Given the description of an element on the screen output the (x, y) to click on. 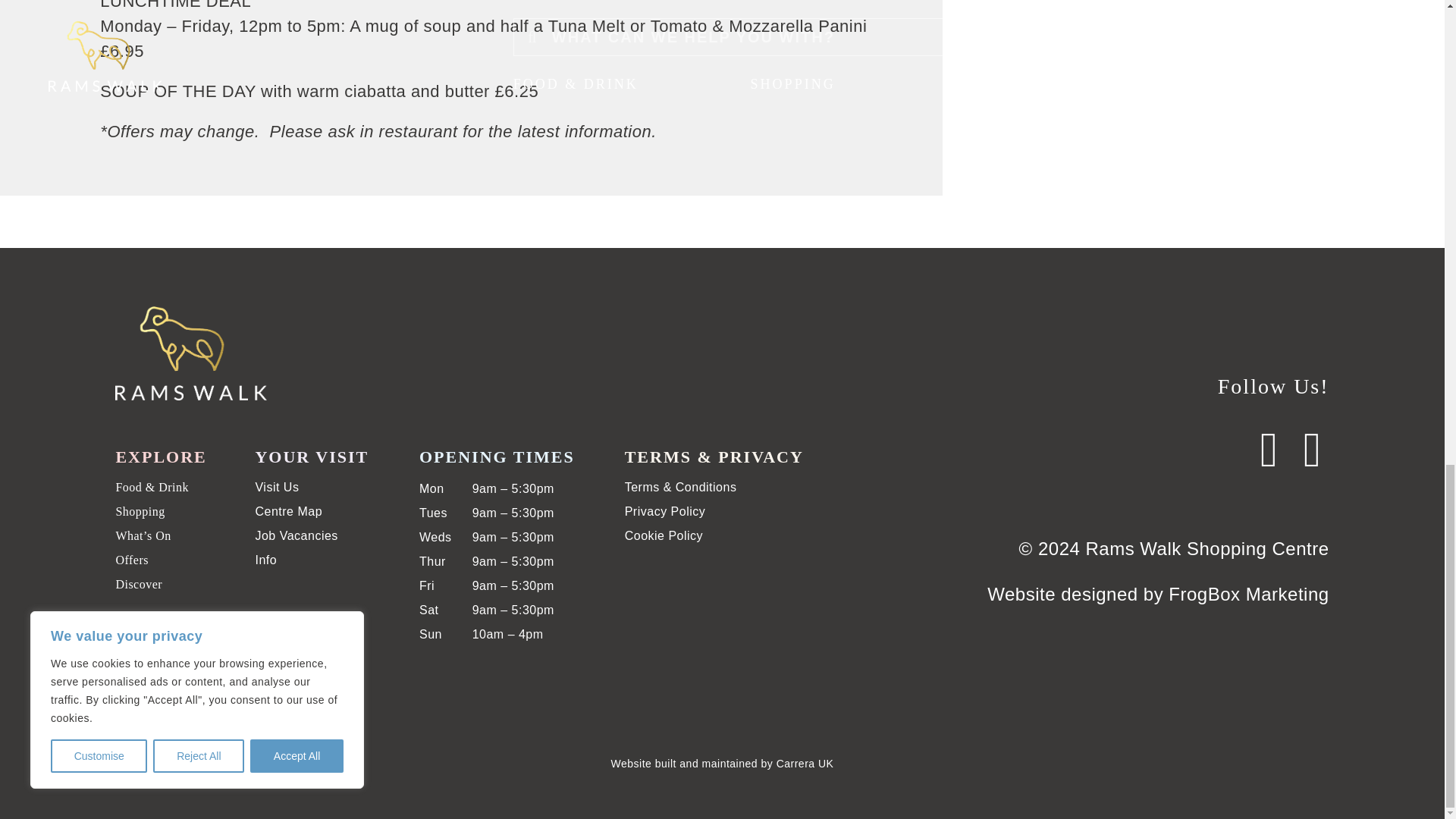
Offers (131, 559)
Shopping (139, 511)
Rams Walk Logo colour (190, 351)
